Given the description of an element on the screen output the (x, y) to click on. 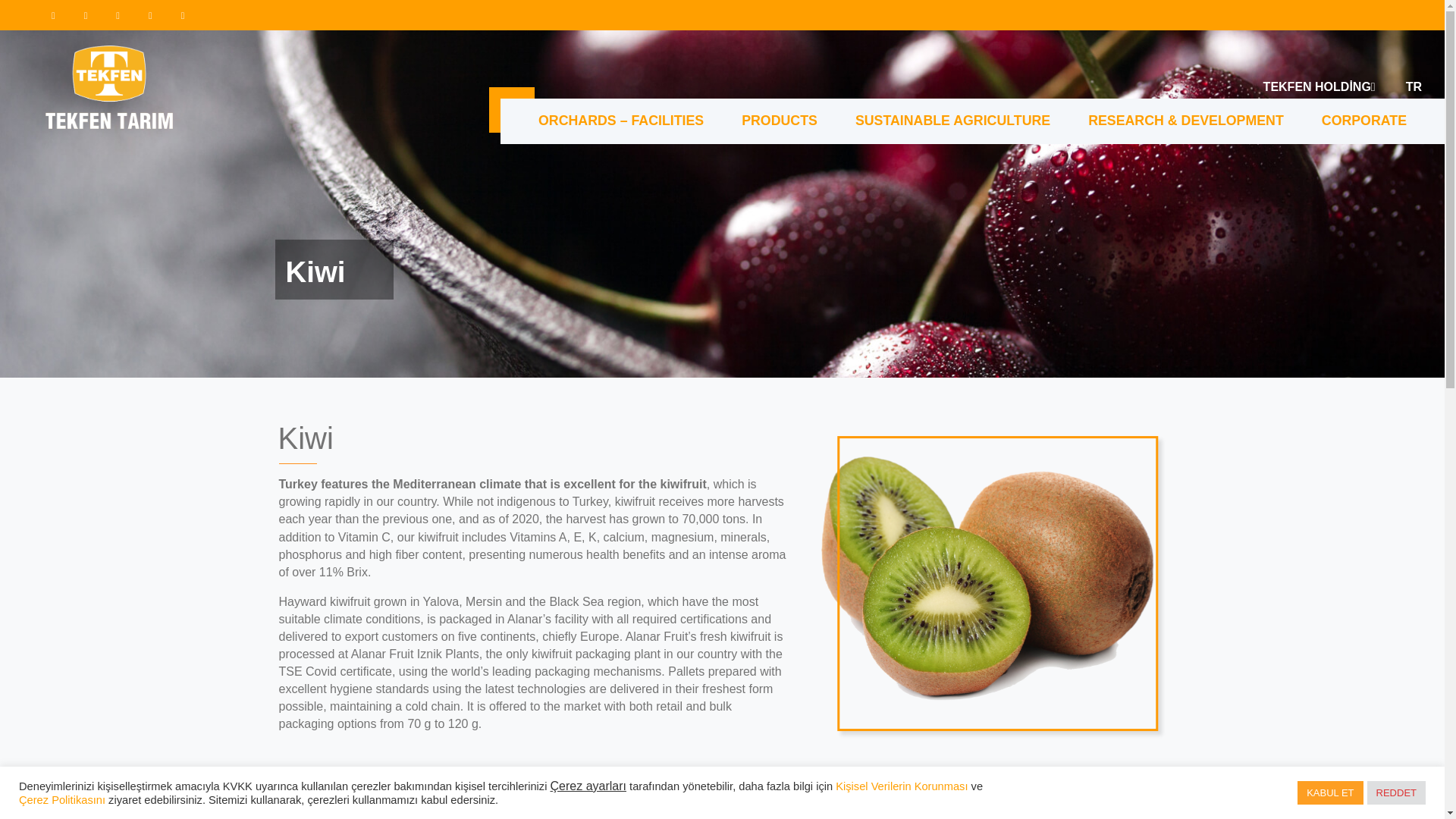
PRODUCTS (778, 121)
SUSTAINABLE AGRICULTURE (951, 121)
TR (1413, 86)
CORPORATE (1364, 121)
